Given the description of an element on the screen output the (x, y) to click on. 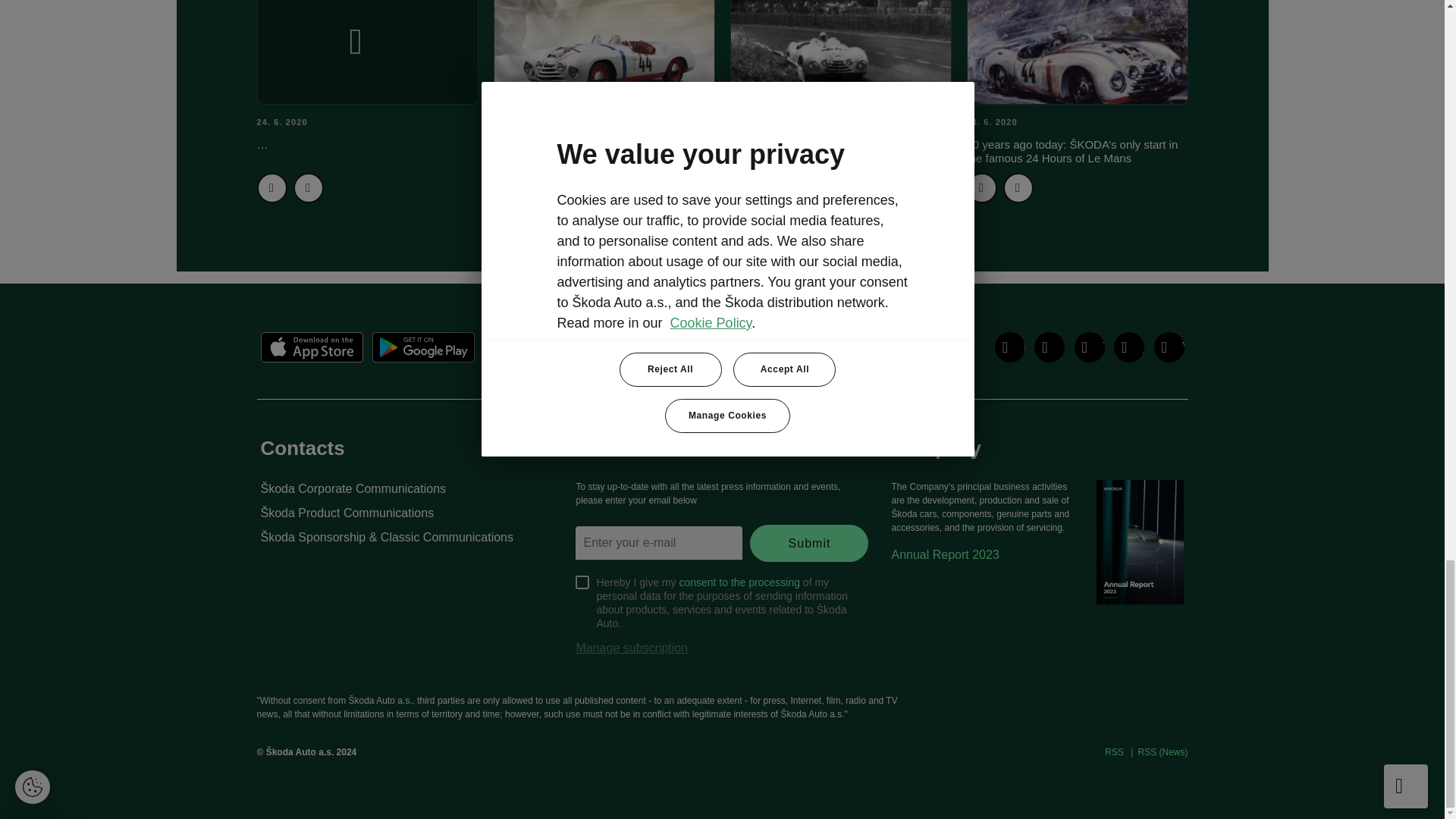
Download this (307, 187)
